Given the description of an element on the screen output the (x, y) to click on. 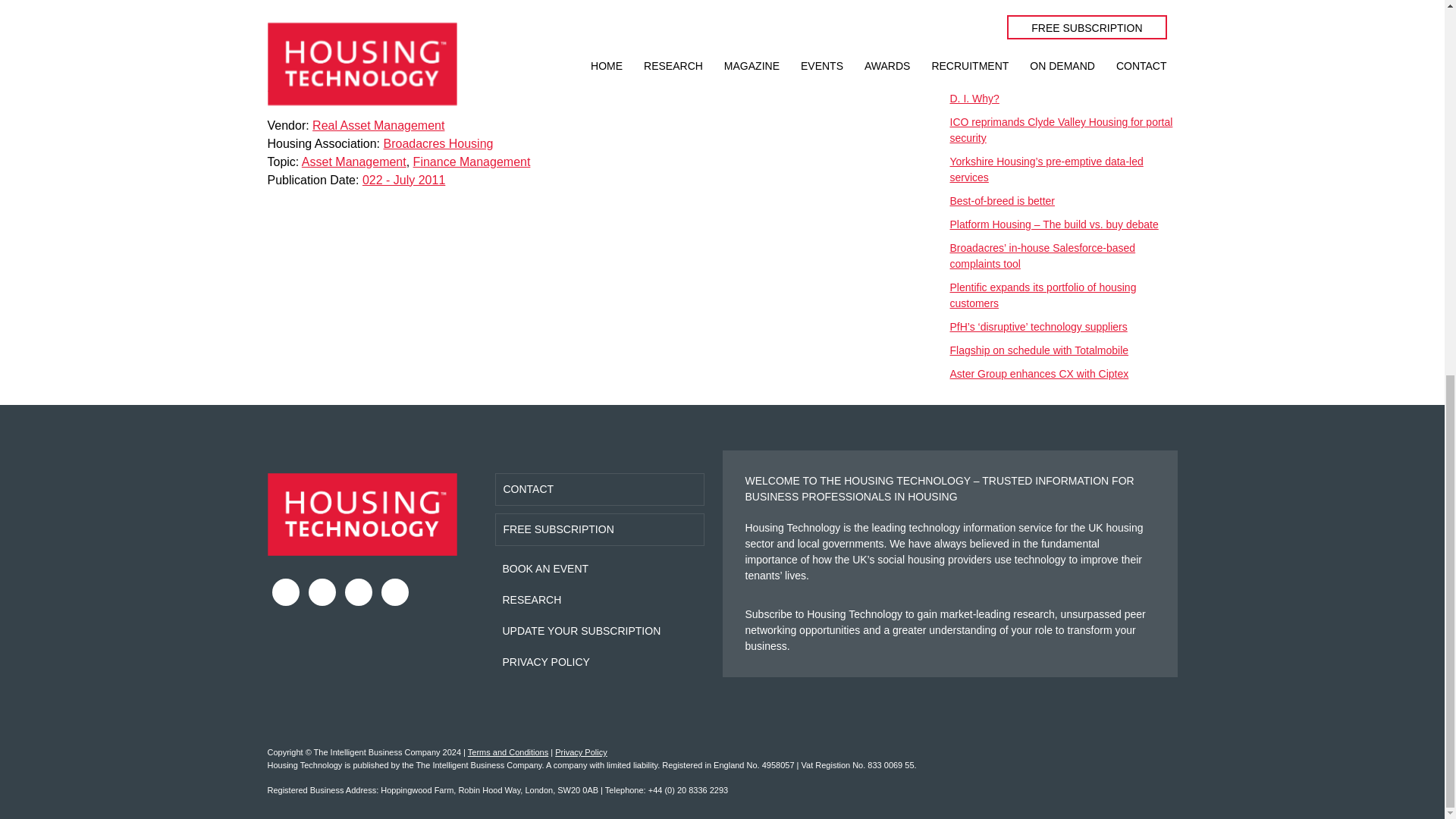
Broadacres Housing (437, 143)
Real Asset Management (378, 124)
022 - July 2011 (403, 179)
Finance Management (472, 161)
Asset Management (353, 161)
